Given the description of an element on the screen output the (x, y) to click on. 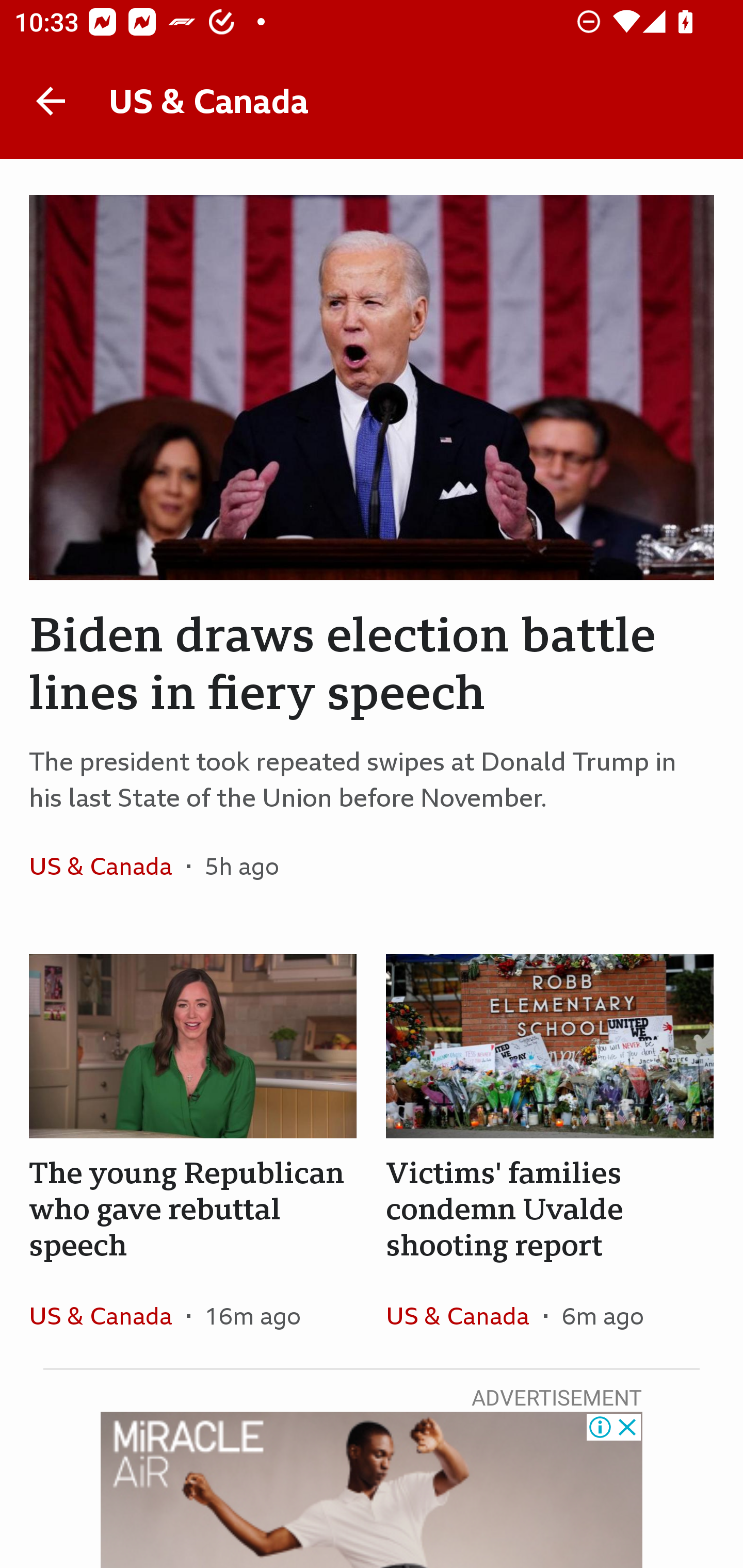
Back (50, 101)
US & Canada In the section US & Canada (107, 865)
US & Canada In the section US & Canada (107, 1315)
US & Canada In the section US & Canada (464, 1315)
